Given the description of an element on the screen output the (x, y) to click on. 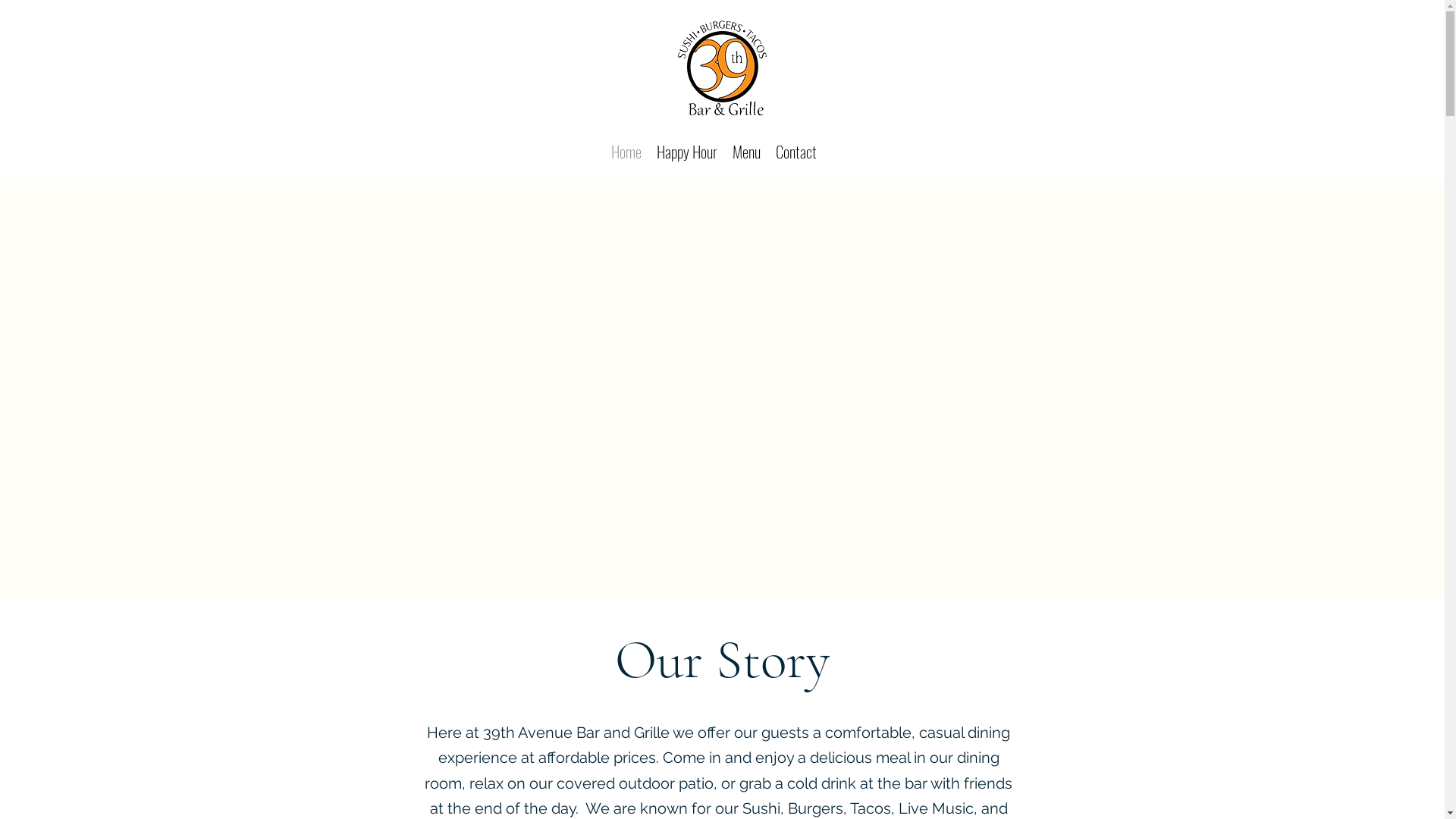
Happy Hour Element type: text (686, 148)
Home Element type: text (626, 148)
Menu Element type: text (746, 148)
Contact Element type: text (795, 148)
